Given the description of an element on the screen output the (x, y) to click on. 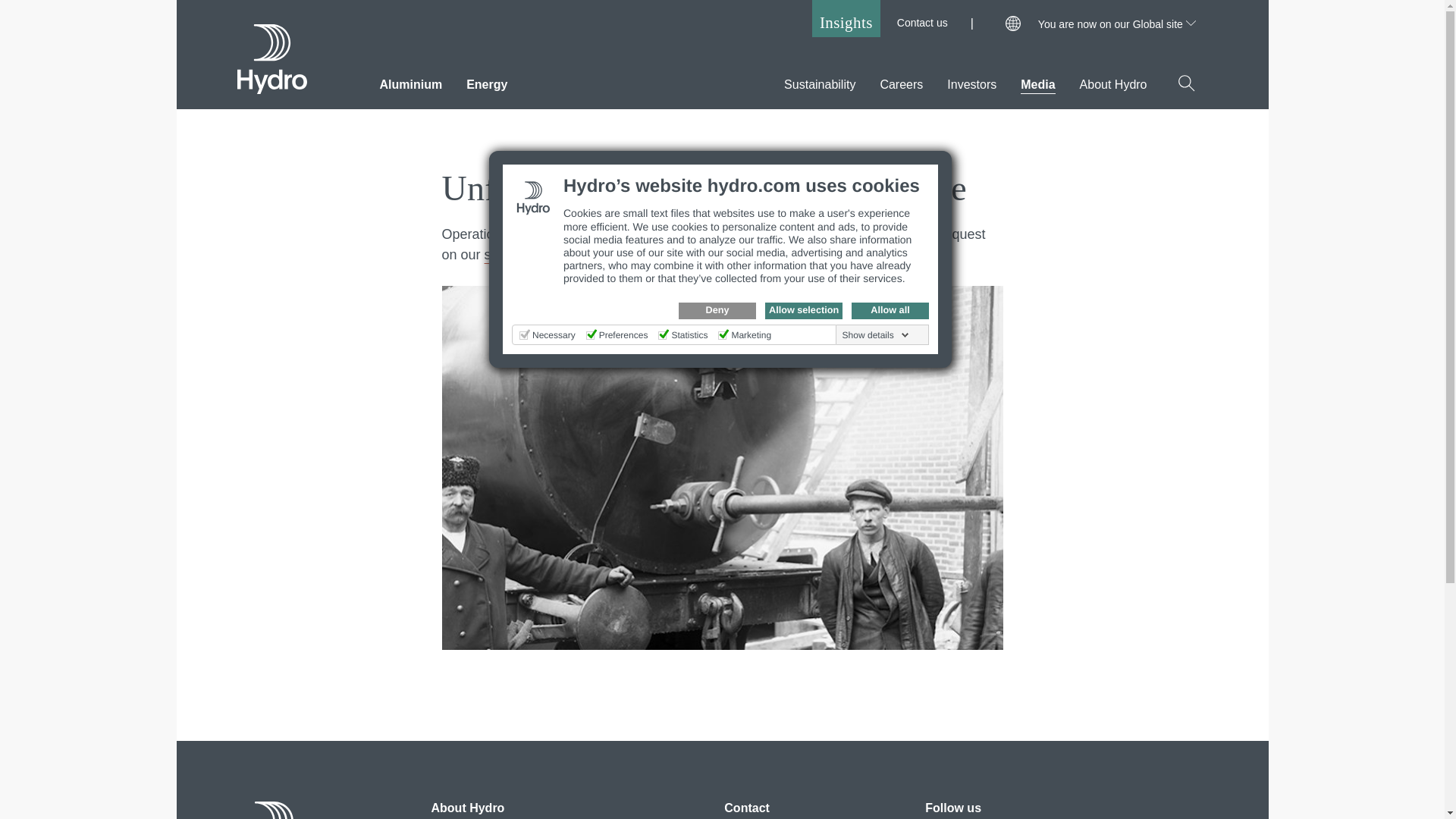
Allow selection (804, 310)
Show details (876, 335)
Deny (716, 310)
Allow all (889, 310)
